Given the description of an element on the screen output the (x, y) to click on. 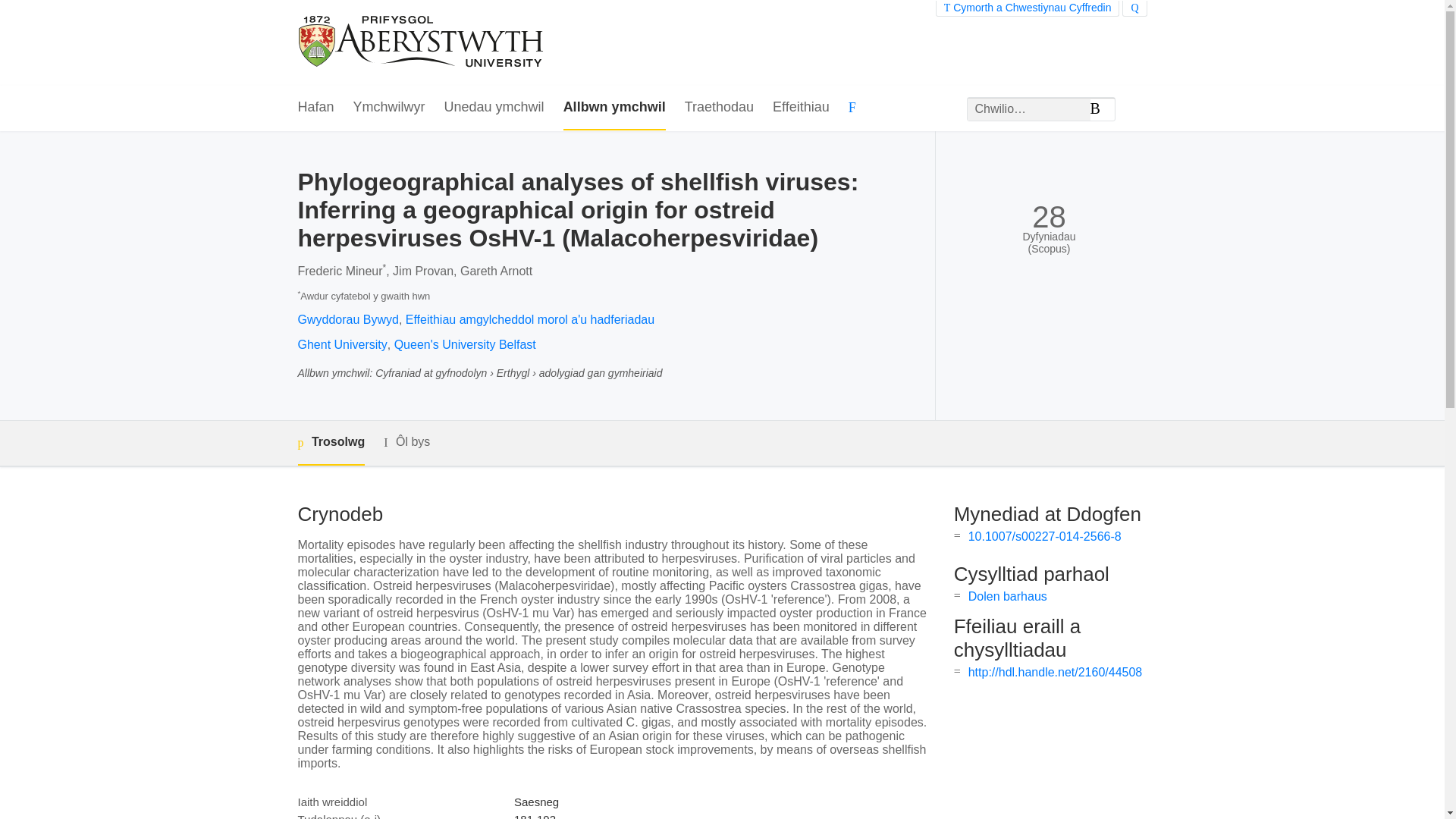
Unedau ymchwil (494, 107)
Queen's University Belfast (464, 344)
Gwyddorau Bywyd (347, 318)
Porth Ymchwil Aberystwyth Hafan (422, 42)
Dolen barhaus (1007, 595)
Ghent University (342, 344)
Cymorth a Chwestiynau Cyffredin (1027, 7)
Allbwn ymchwil (614, 107)
Effeithiau amgylcheddol morol a'u hadferiadau (529, 318)
Traethodau (719, 107)
